Given the description of an element on the screen output the (x, y) to click on. 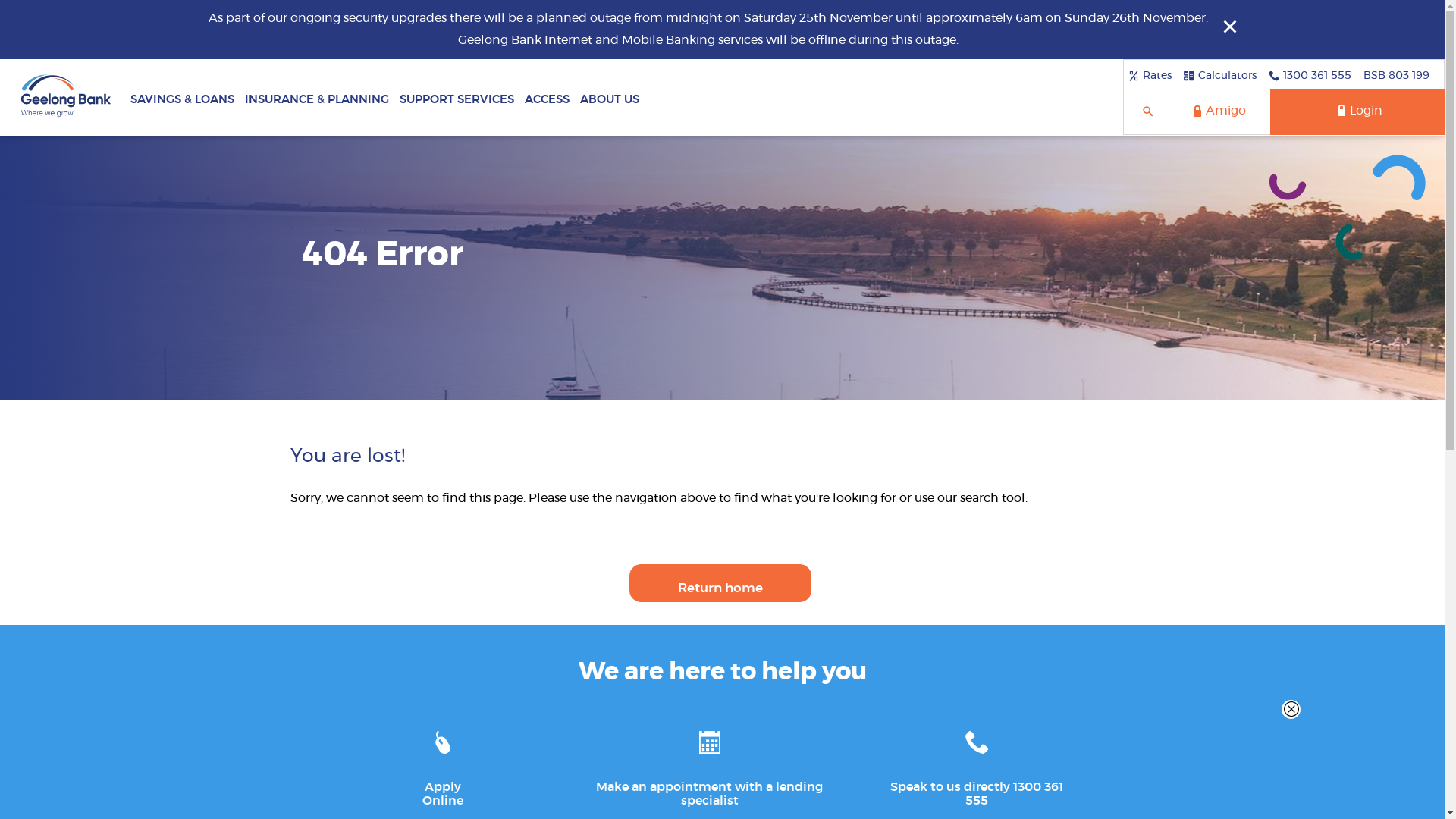
Return home Element type: text (720, 583)
Yes Element type: text (4, 4)
Speak to us directly 1300 361 555 Element type: text (976, 763)
Rates Element type: text (1149, 74)
Apply Online Element type: text (442, 763)
Make an appointment with a lending specialist Element type: text (709, 763)
Login Element type: text (1357, 111)
ACCESS Element type: text (546, 96)
Calculators Element type: text (1219, 74)
1300 361 555 Element type: text (1309, 74)
ABOUT US Element type: text (609, 96)
Amigo Element type: text (1220, 111)
BSB 803 199 Element type: text (1396, 74)
INSURANCE & PLANNING Element type: text (316, 96)
SUPPORT SERVICES Element type: text (456, 96)
SAVINGS & LOANS Element type: text (182, 96)
